Given the description of an element on the screen output the (x, y) to click on. 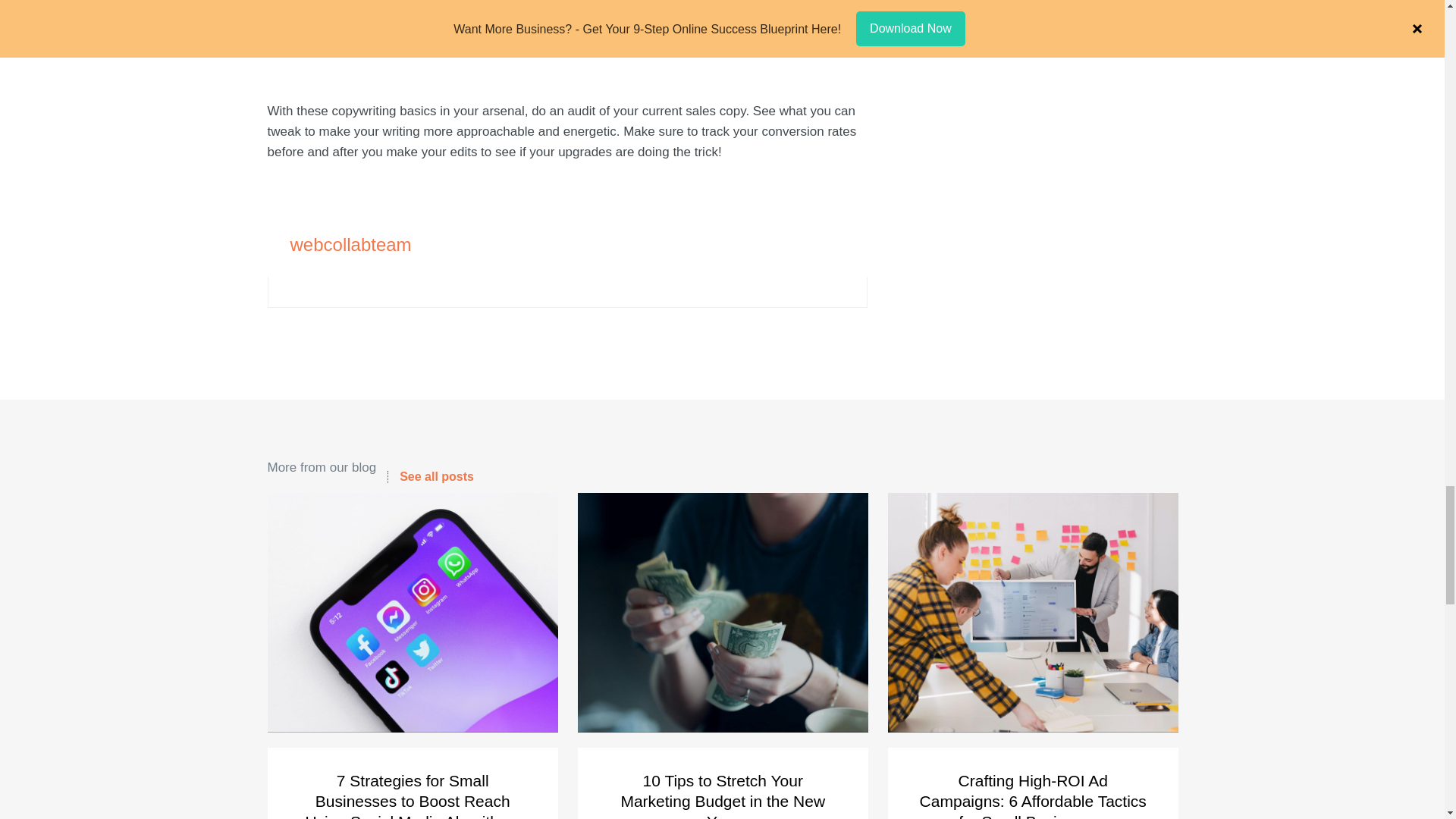
Marketing-Budget (722, 612)
Social-Media-Algorithms (411, 612)
Leverage-Social-Media-Advertising (1031, 612)
